Given the description of an element on the screen output the (x, y) to click on. 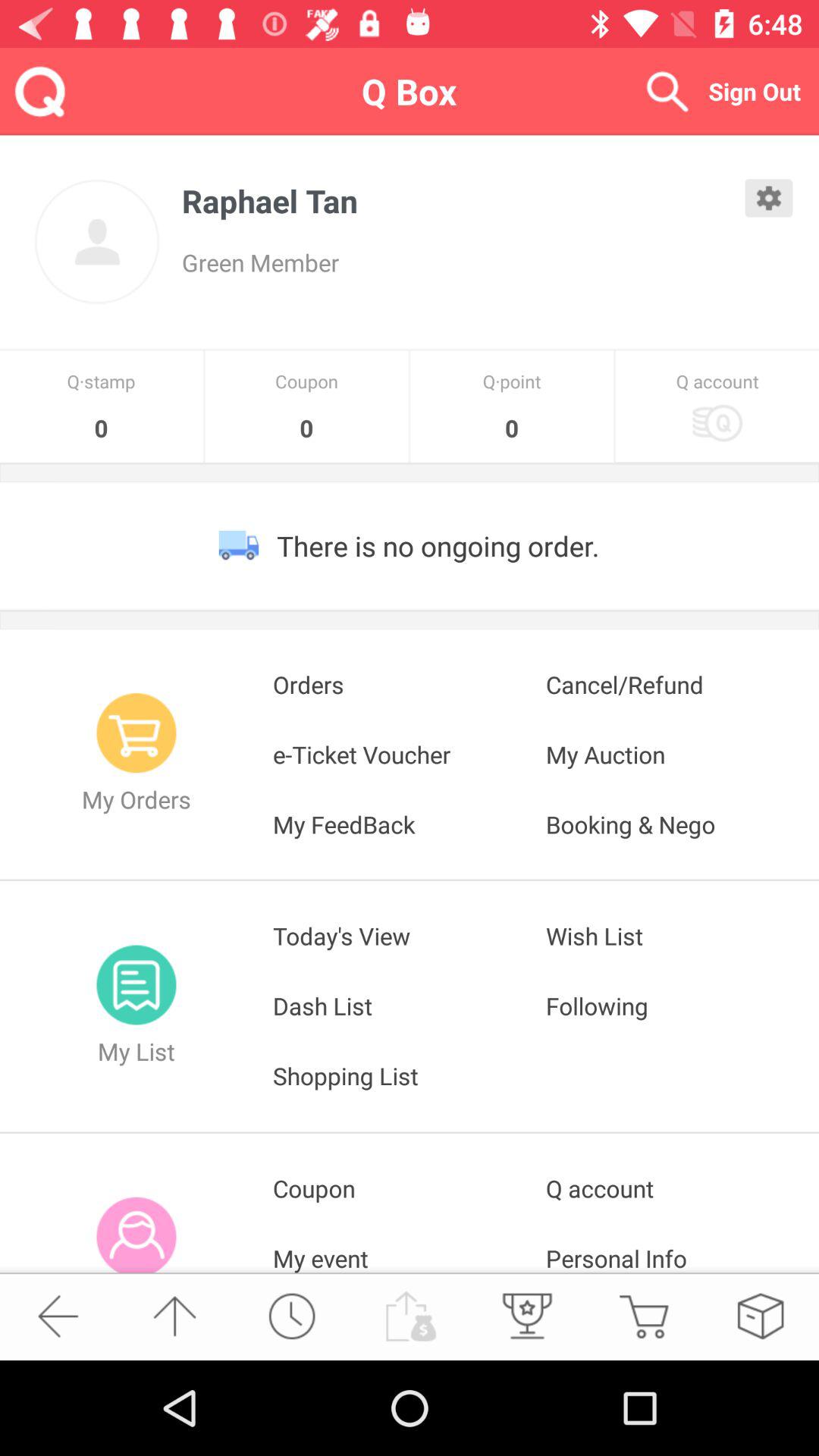
turn off the item next to orders app (682, 754)
